Given the description of an element on the screen output the (x, y) to click on. 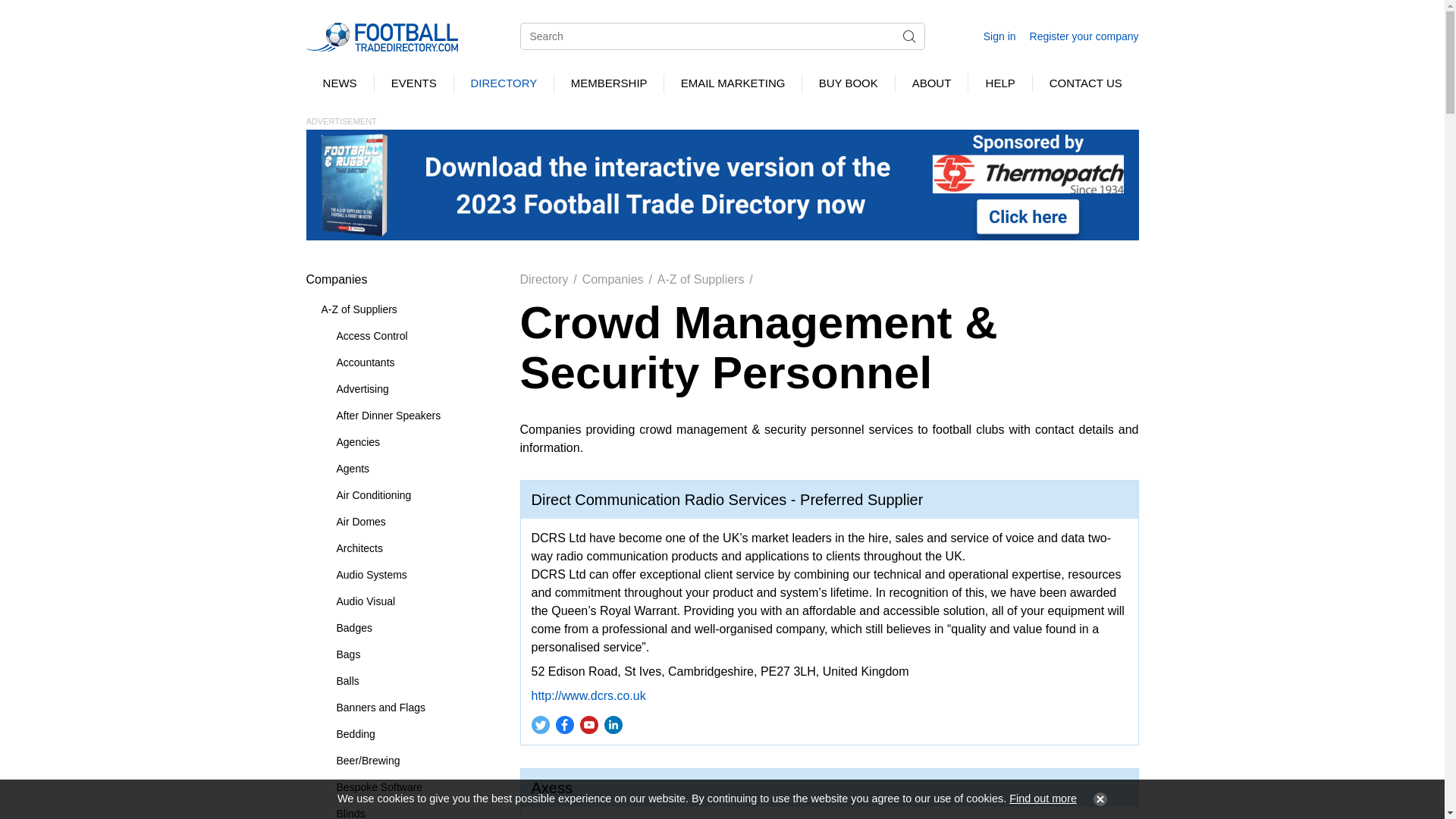
NEWS (339, 83)
Search (908, 36)
DIRECTORY (503, 83)
Facebook (563, 724)
EVENTS (413, 83)
YouTube (587, 724)
2023 download directory (721, 183)
Register your company (1083, 35)
Twitter (539, 724)
LinkedIn (611, 724)
